Given the description of an element on the screen output the (x, y) to click on. 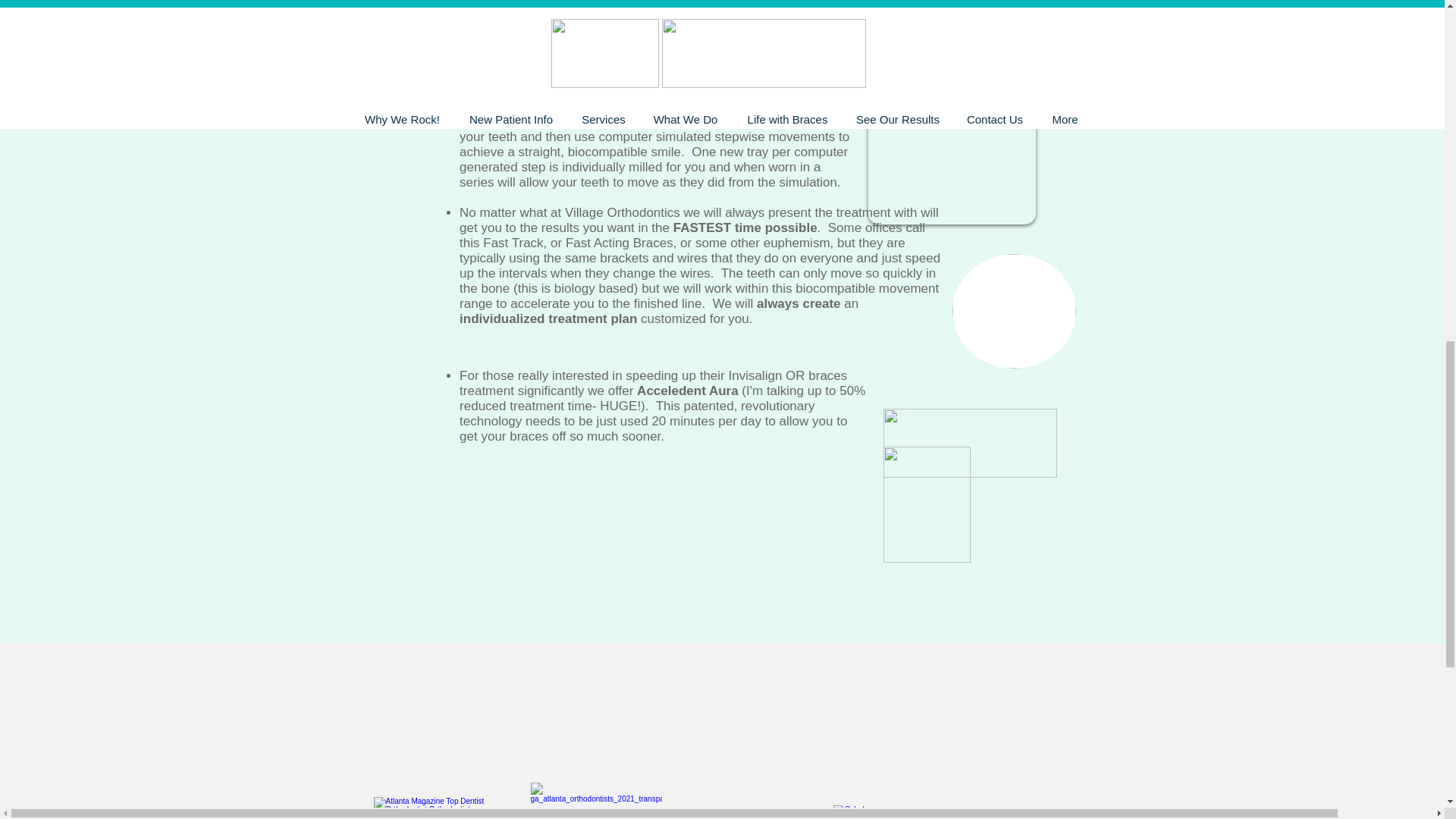
Village Ortho Schulman Member (862, 812)
Village Orthodontics Top Dentist Atlnta (440, 807)
Best of 2019 Expertise.com Orthodontist (596, 800)
